Given the description of an element on the screen output the (x, y) to click on. 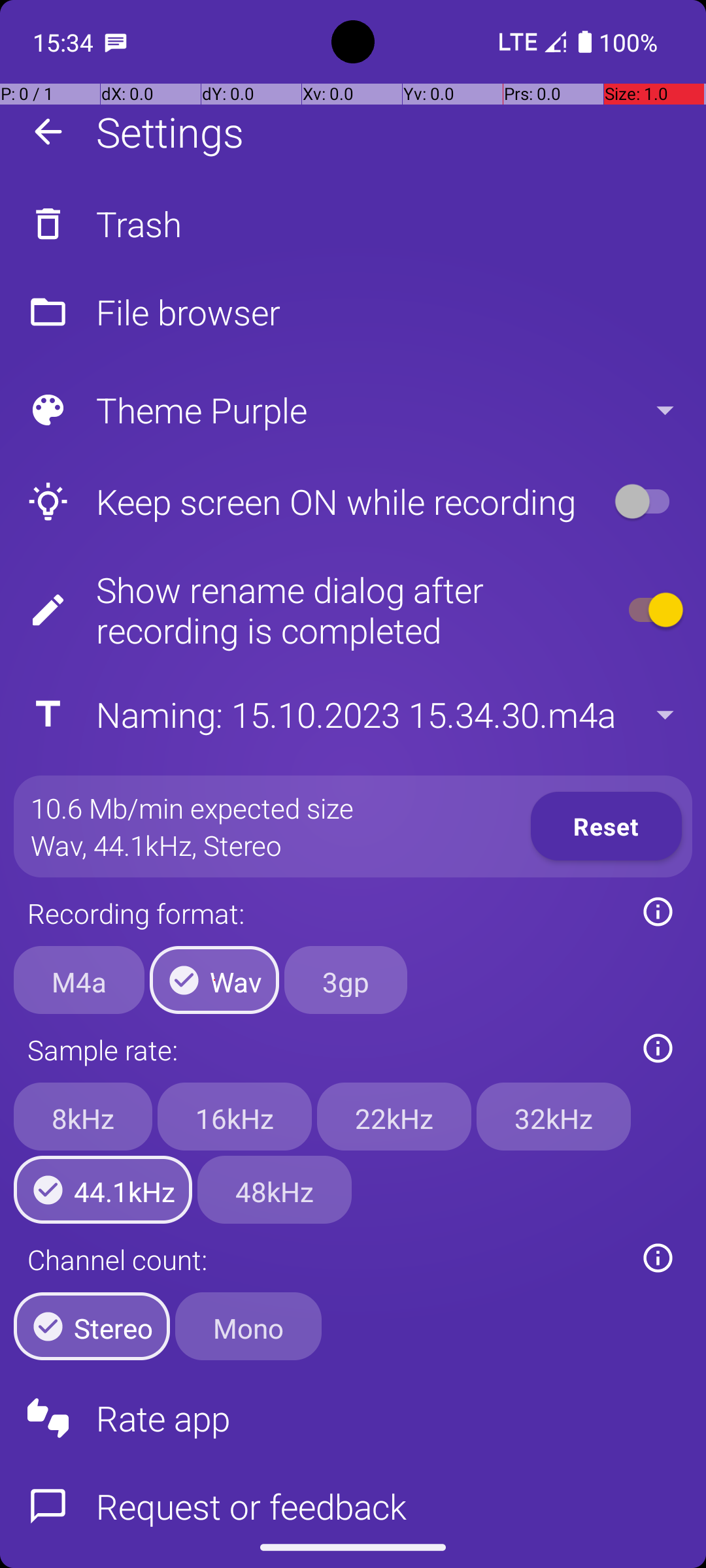
File browser Element type: android.widget.TextView (353, 311)
Keep screen ON while recording Element type: android.widget.TextView (304, 501)
Show rename dialog after recording is completed Element type: android.widget.TextView (304, 609)
10.6 Mb/min expected size Element type: android.widget.TextView (191, 807)
Wav, 44.1kHz, Stereo Element type: android.widget.TextView (156, 844)
Rate app Element type: android.widget.TextView (353, 1417)
Request or feedback Element type: android.widget.TextView (353, 1494)
Theme Purple Element type: android.widget.TextView (352, 409)
Naming: 15.10.2023 15.34.30.m4a Element type: android.widget.TextView (352, 714)
